Given the description of an element on the screen output the (x, y) to click on. 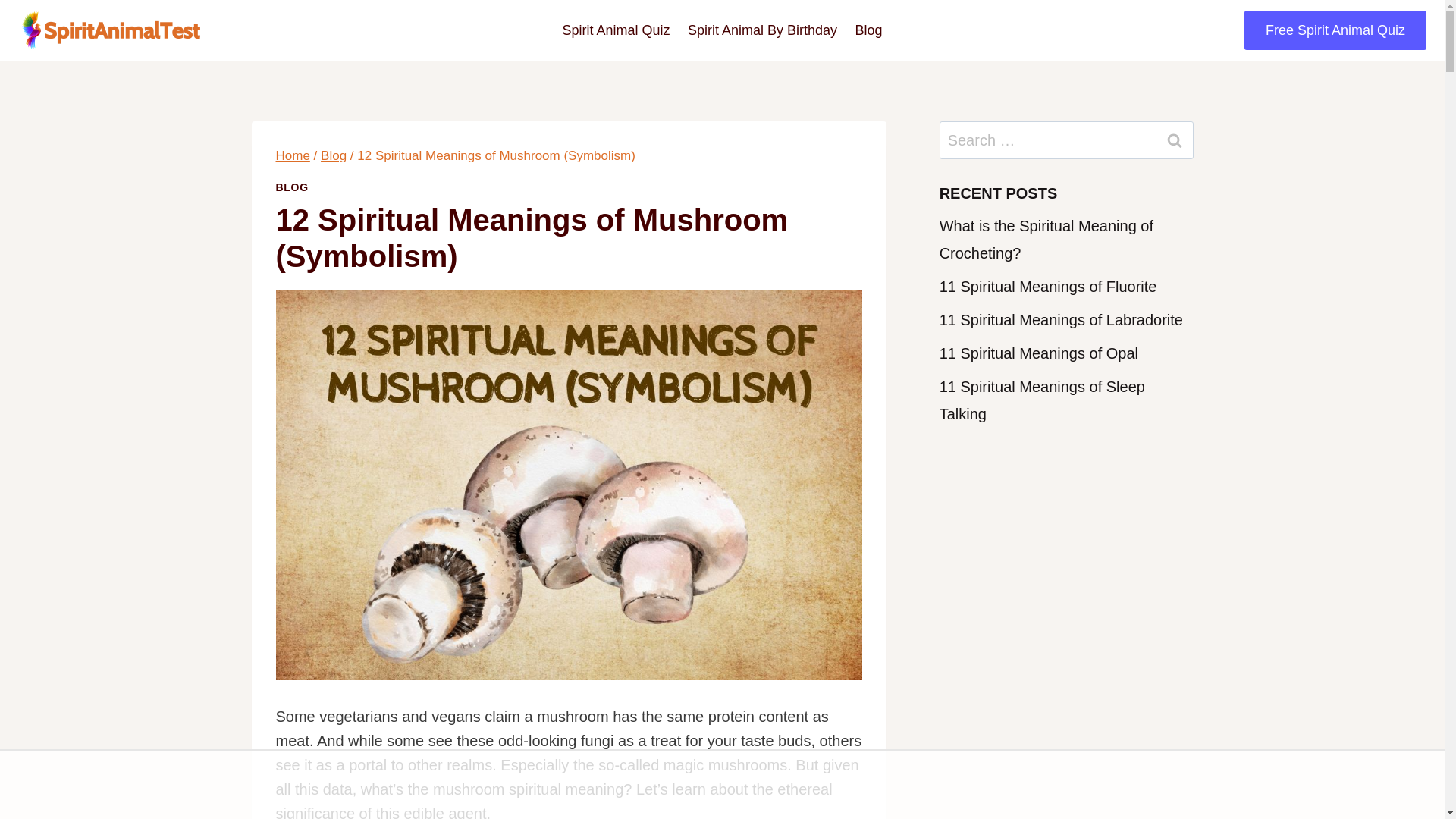
Home (293, 155)
Search (1174, 139)
Blog (333, 155)
Search (1174, 139)
Spirit Animal Quiz (615, 30)
BLOG (292, 186)
Free Spirit Animal Quiz (1335, 30)
Spirit Animal By Birthday (761, 30)
Blog (868, 30)
